Given the description of an element on the screen output the (x, y) to click on. 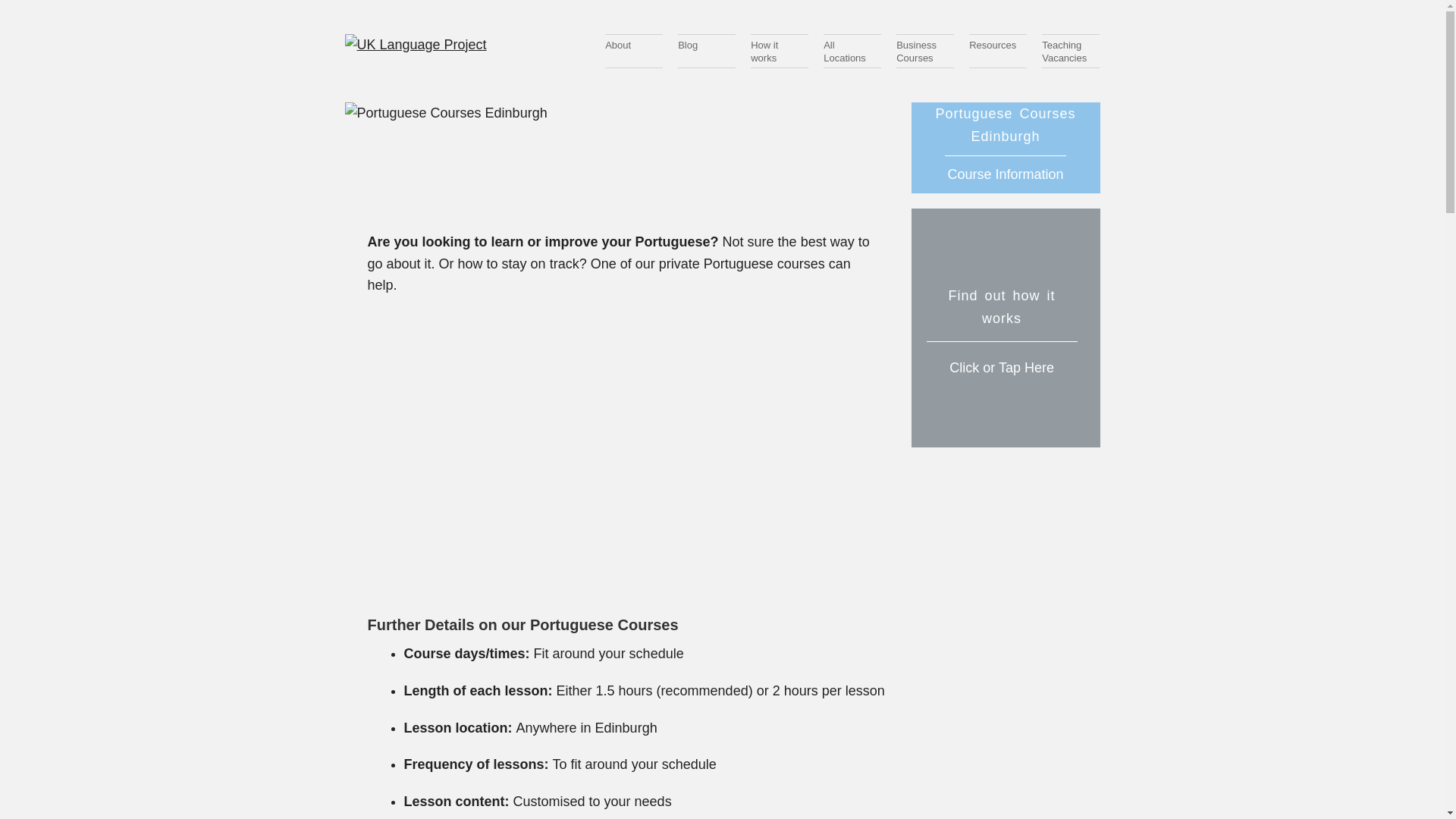
Teaching Vacancies (1070, 50)
How it works (779, 50)
All Locations (852, 50)
About (1005, 327)
Blog (633, 50)
Business Courses (706, 50)
Resources (924, 50)
